Given the description of an element on the screen output the (x, y) to click on. 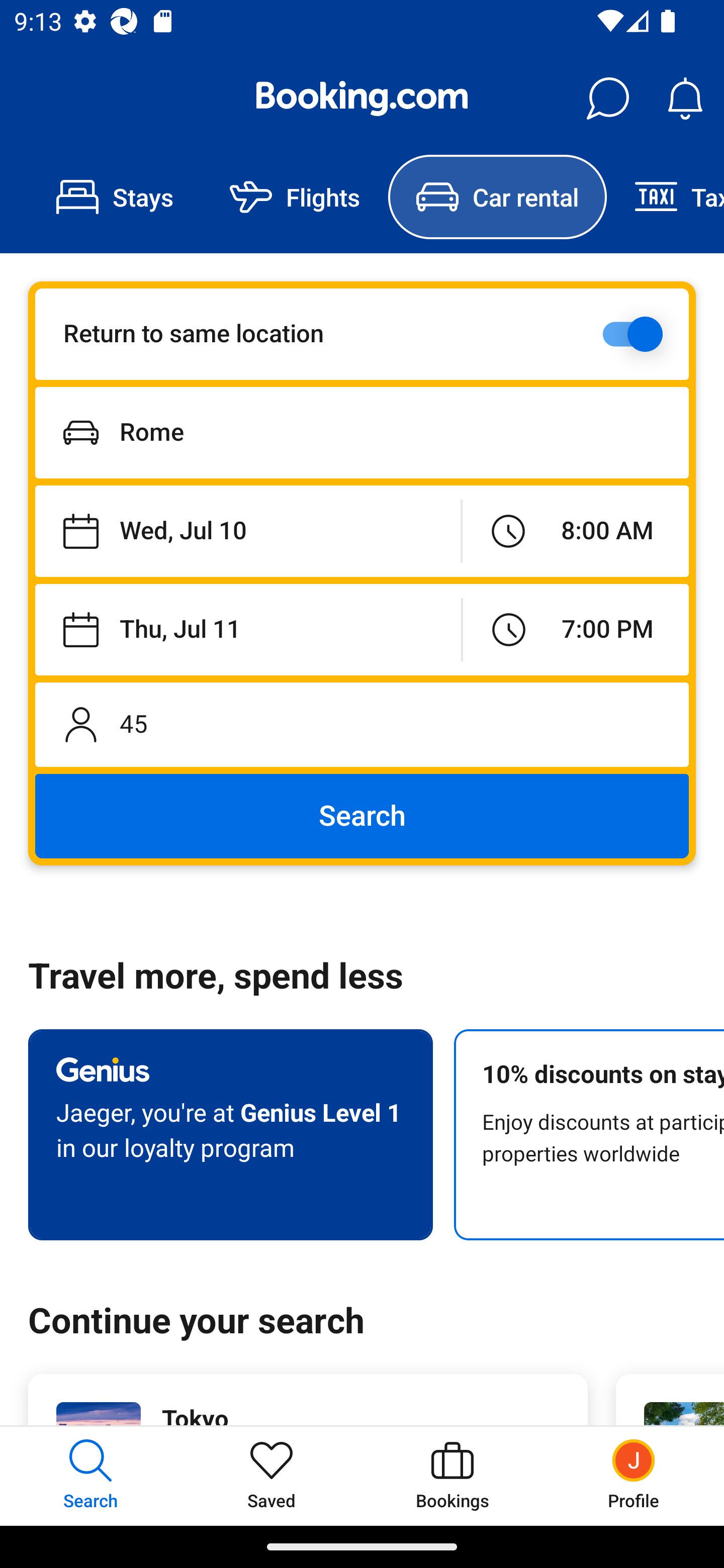
Messages (607, 98)
Notifications (685, 98)
Stays (114, 197)
Flights (294, 197)
Car rental (497, 197)
Taxi (665, 197)
Pick-up location: Text(name=Rome) (361, 432)
Pick-up date: 2024-07-10 (247, 531)
Pick-up time: 08:00:00.000 (575, 531)
Drop-off date: 2024-07-11 (248, 629)
Drop-off time: 19:00:00.000 (575, 629)
Driver's age: 45 (361, 724)
Search (361, 815)
Saved (271, 1475)
Bookings (452, 1475)
Profile (633, 1475)
